Given the description of an element on the screen output the (x, y) to click on. 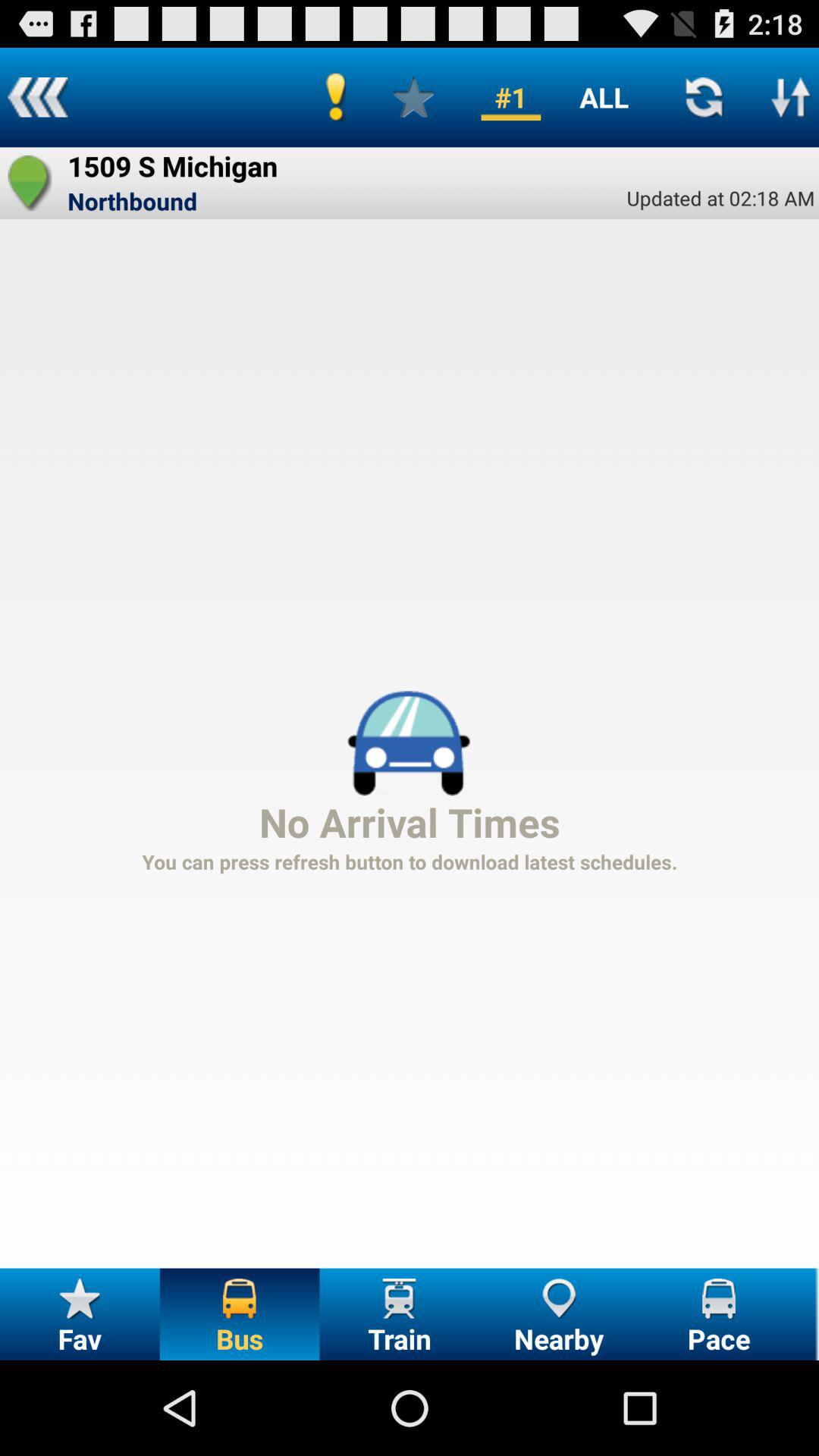
click icon above updated at 02 item (791, 97)
